Given the description of an element on the screen output the (x, y) to click on. 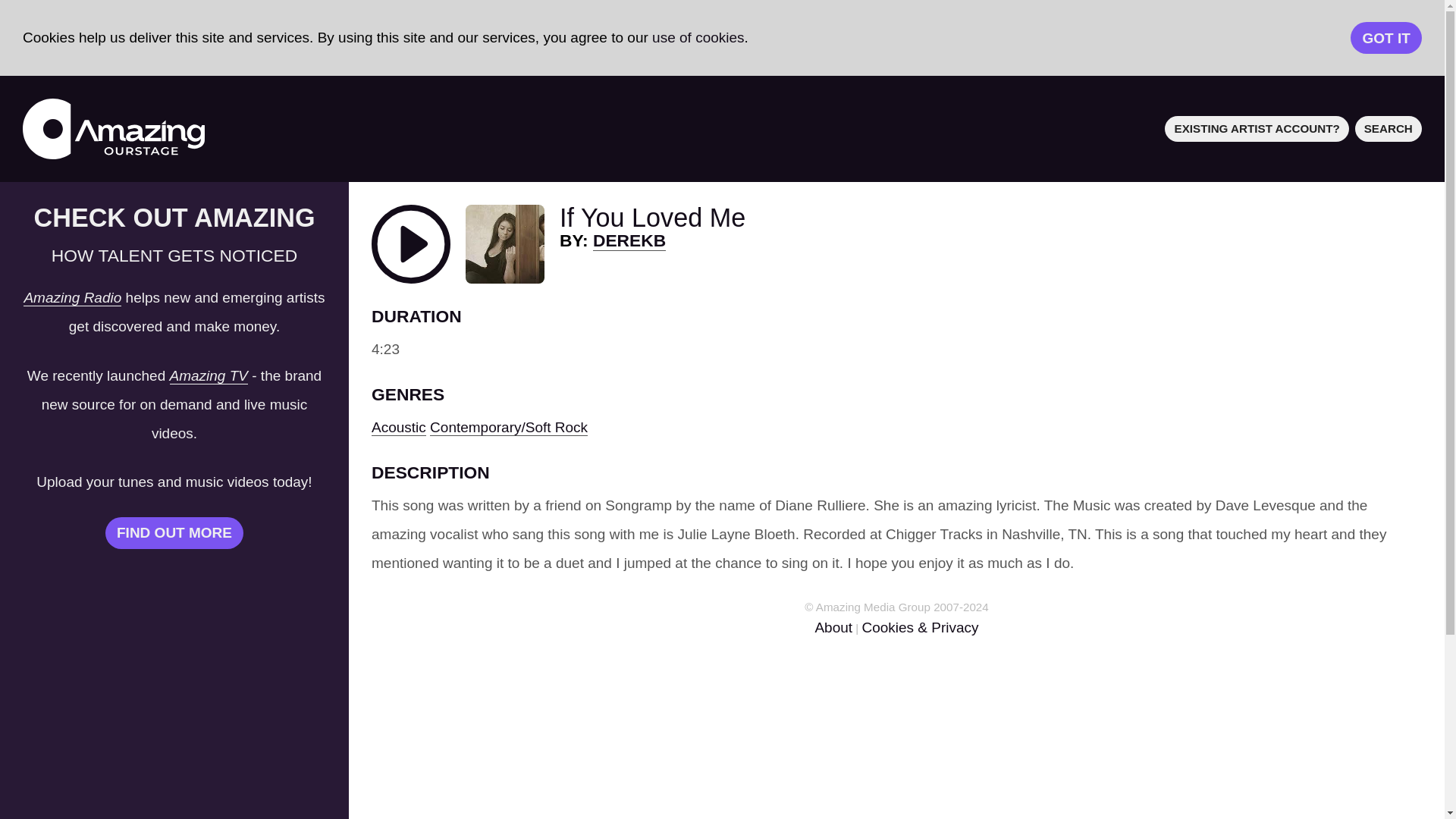
SEARCH (1388, 128)
About (832, 627)
FIND OUT MORE (173, 532)
EXISTING ARTIST ACCOUNT? (1256, 128)
Amazing Radio (71, 297)
use of cookies (698, 37)
Acoustic (398, 427)
DEREKB (628, 240)
Amazing TV (208, 375)
